Given the description of an element on the screen output the (x, y) to click on. 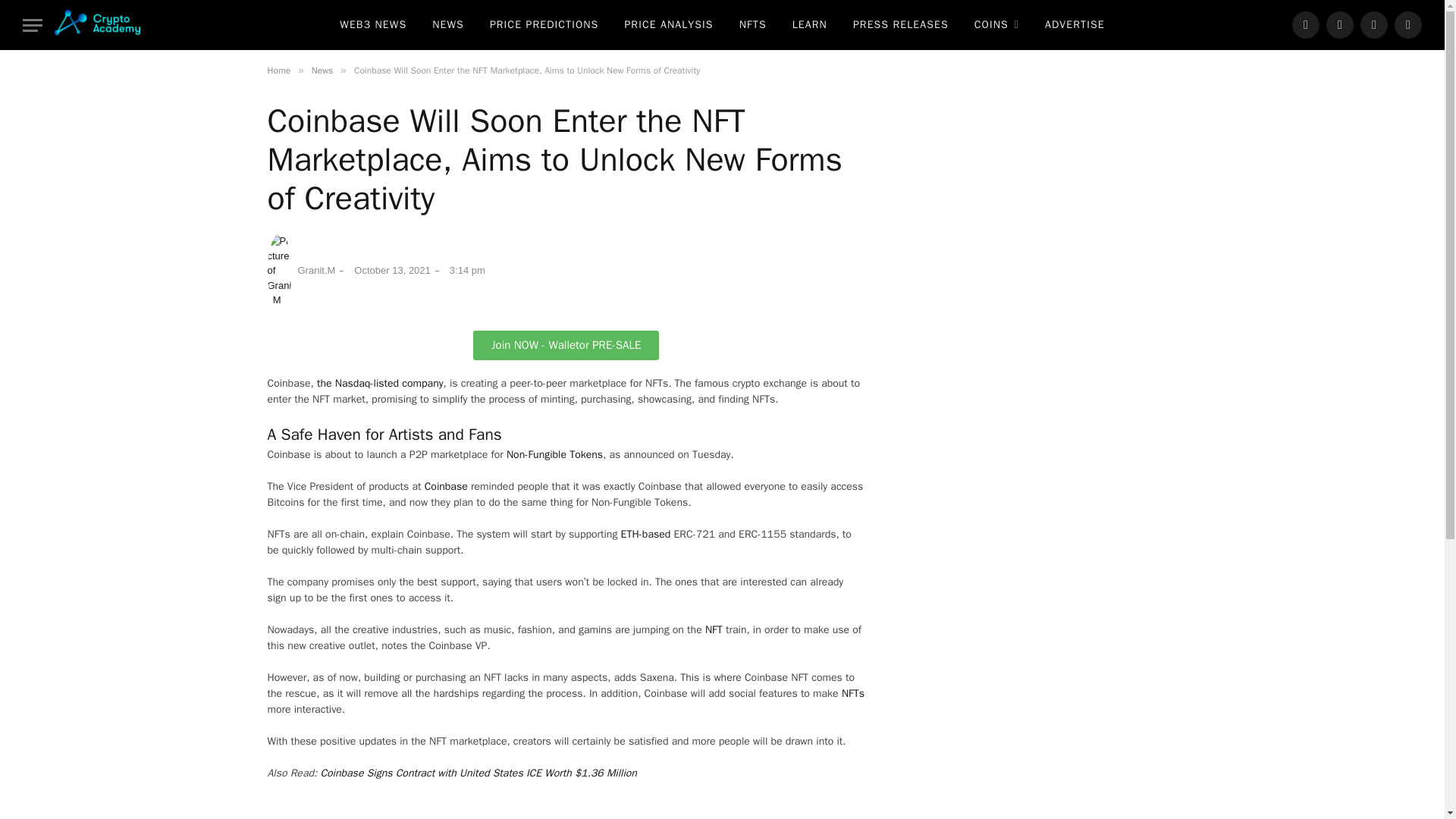
NFTs (852, 693)
Facebook (1305, 24)
COINS (996, 24)
Join NOW - Walletor PRE-SALE (566, 345)
Non-Fungible Tokens (554, 454)
PRESS RELEASES (900, 24)
News (322, 70)
Coinbase (446, 486)
PRICE ANALYSIS (668, 24)
Granit.M (300, 270)
LEARN (809, 24)
ETH-based (646, 533)
ADVERTISE (1075, 24)
NEWS (448, 24)
NFT (713, 629)
